Given the description of an element on the screen output the (x, y) to click on. 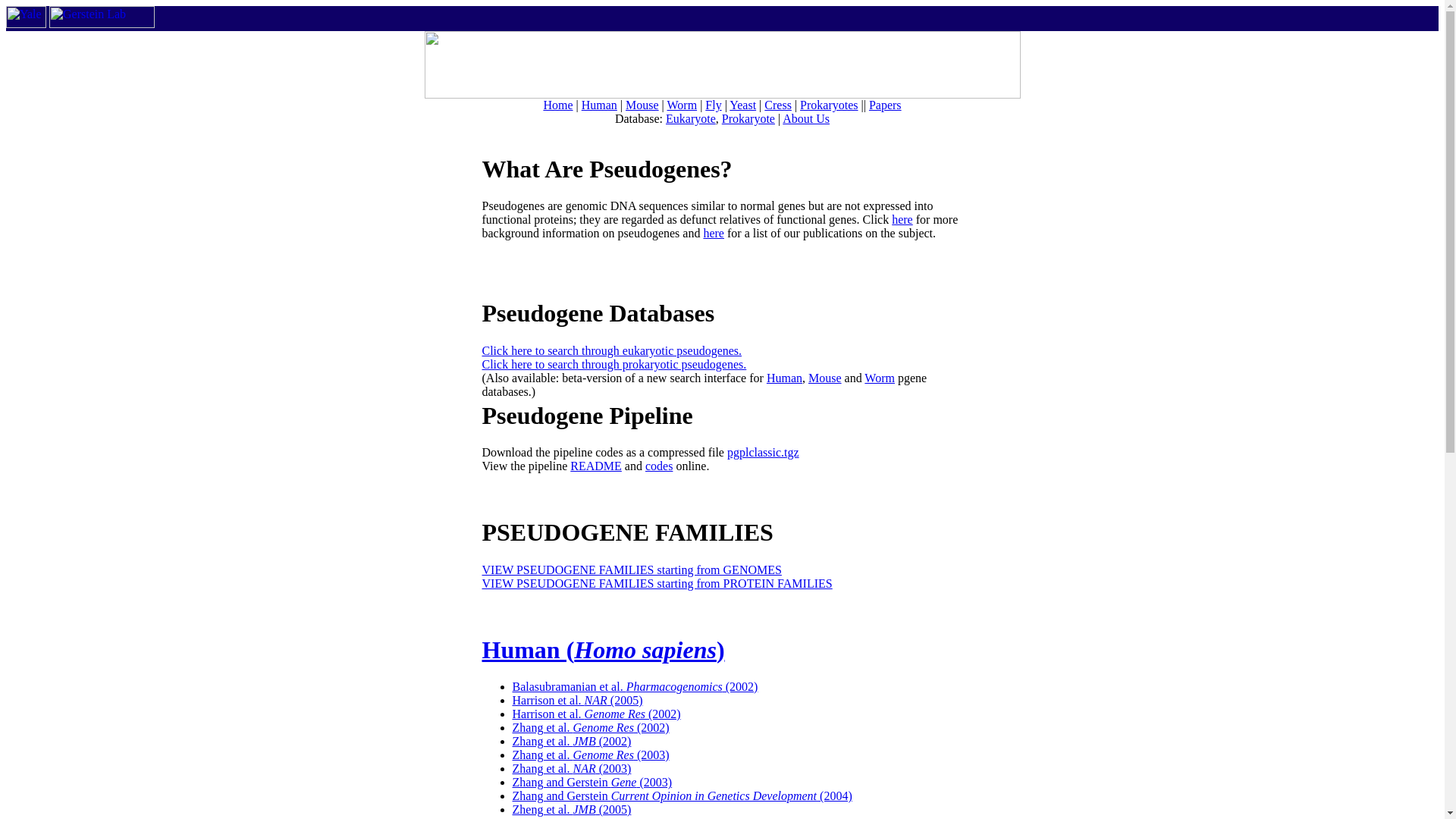
Cress (778, 104)
Click here to search through eukaryotic pseudogenes. (611, 350)
Human (784, 377)
here (713, 232)
Worm (681, 104)
Click here to search through prokaryotic pseudogenes. (613, 364)
Prokaryotes (828, 104)
Eukaryote (690, 118)
here (901, 219)
VIEW PSEUDOGENE FAMILIES starting from PROTEIN FAMILIES (656, 583)
VIEW PSEUDOGENE FAMILIES starting from GENOMES (631, 569)
Home (557, 104)
Yeast (742, 104)
About Us (806, 118)
Mouse (824, 377)
